Given the description of an element on the screen output the (x, y) to click on. 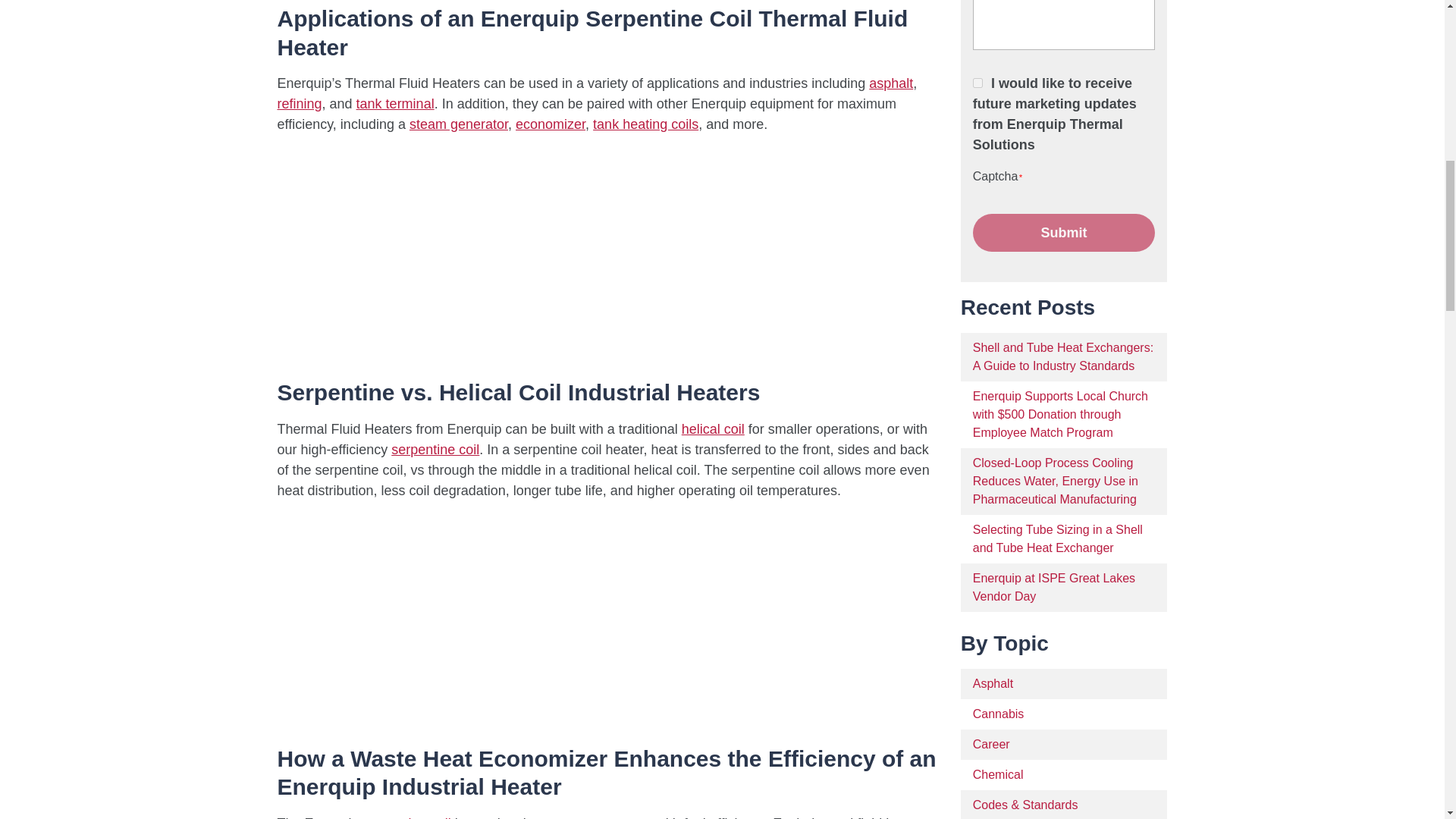
Submit (1064, 232)
Serpentine vs. Helical Coil Industrial Heaters - Enerquip (467, 618)
Enerquip Serpentine Coil Thermal Fluid Heater Applications (467, 253)
1 (977, 82)
